Given the description of an element on the screen output the (x, y) to click on. 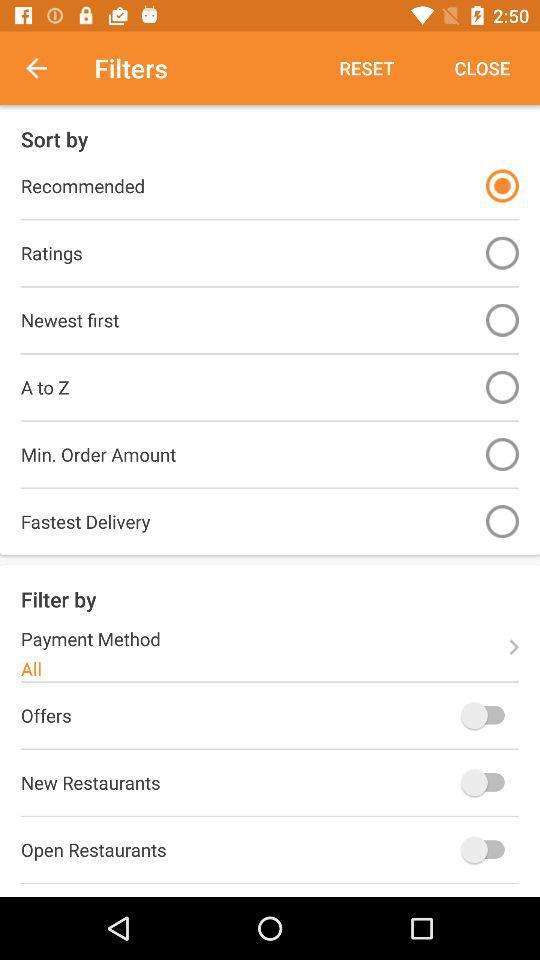
go back to prior screen option (47, 68)
